Given the description of an element on the screen output the (x, y) to click on. 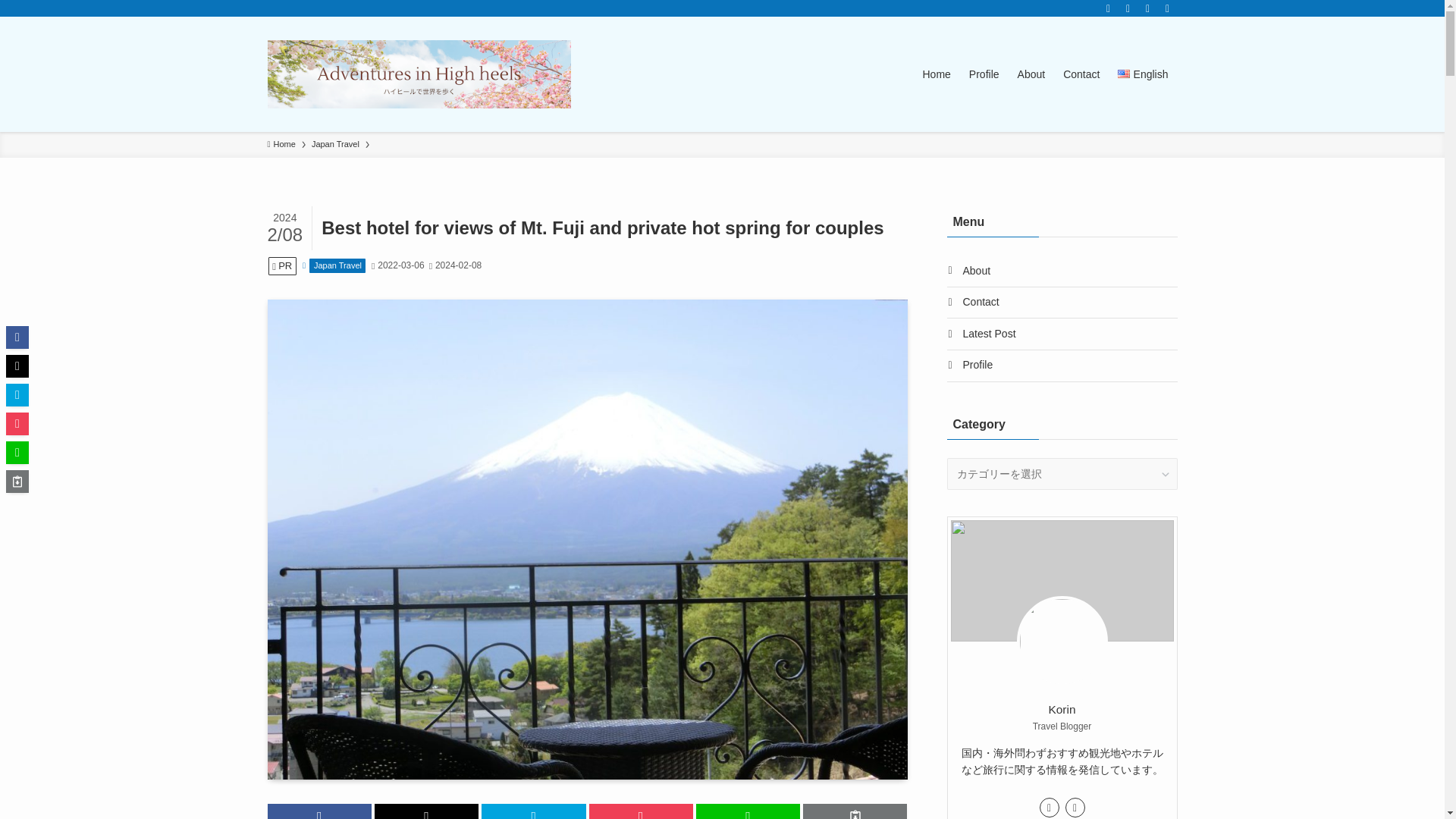
Share on Facebook (319, 811)
Register in Hatena Bookmark (533, 811)
Send to LINE (747, 811)
Copy the URL (855, 811)
Japan Travel (335, 144)
Home (280, 144)
Register in Hatena Bookmark (17, 395)
Share on Facebook (17, 336)
Save to Pocket (640, 811)
Japan Travel (336, 265)
